Given the description of an element on the screen output the (x, y) to click on. 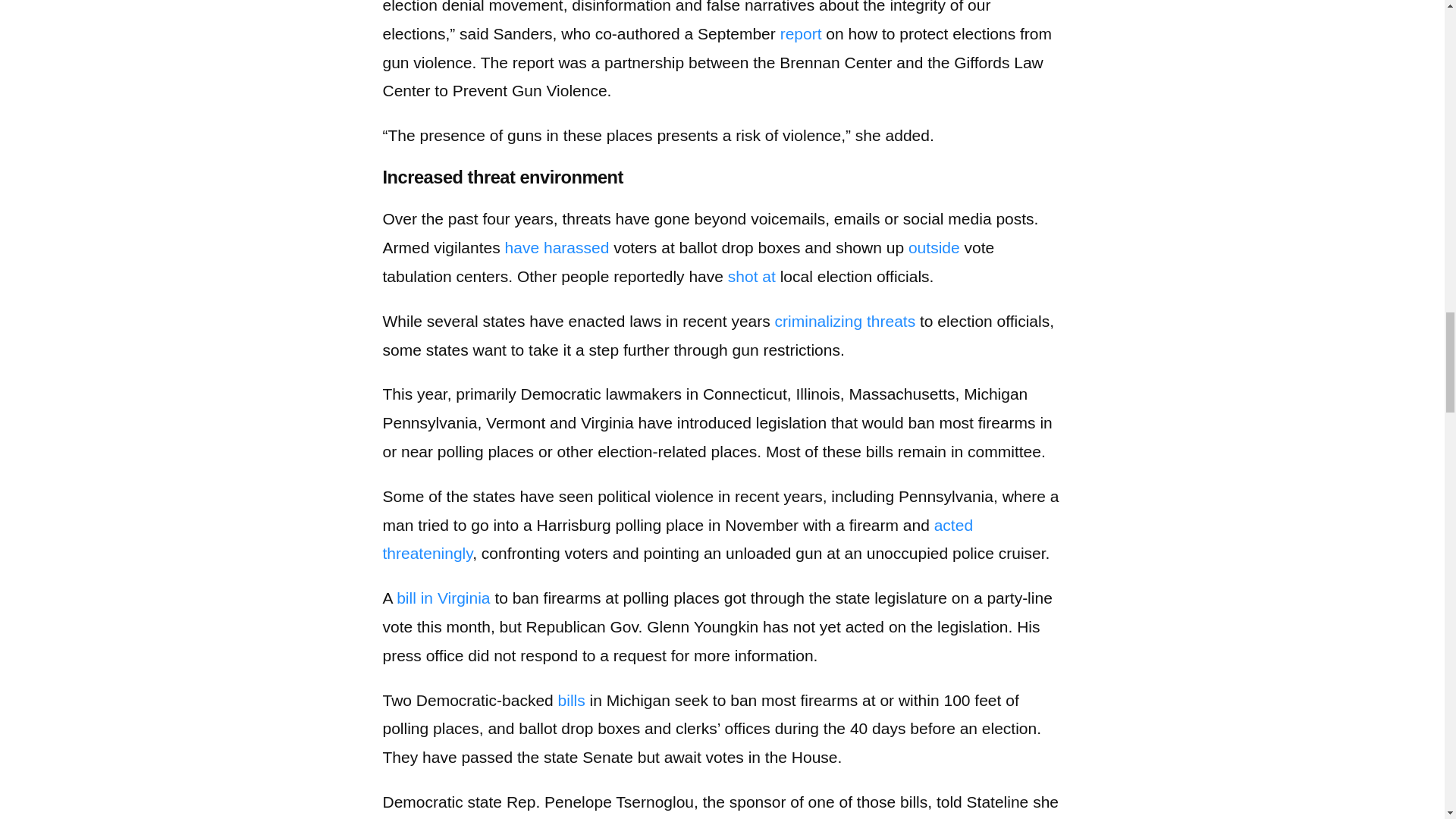
have harassed (557, 247)
report (801, 33)
shot at (752, 276)
bills (571, 700)
acted threateningly (676, 539)
outside (933, 247)
bill in Virginia (442, 597)
criminalizing threats (844, 321)
